Given the description of an element on the screen output the (x, y) to click on. 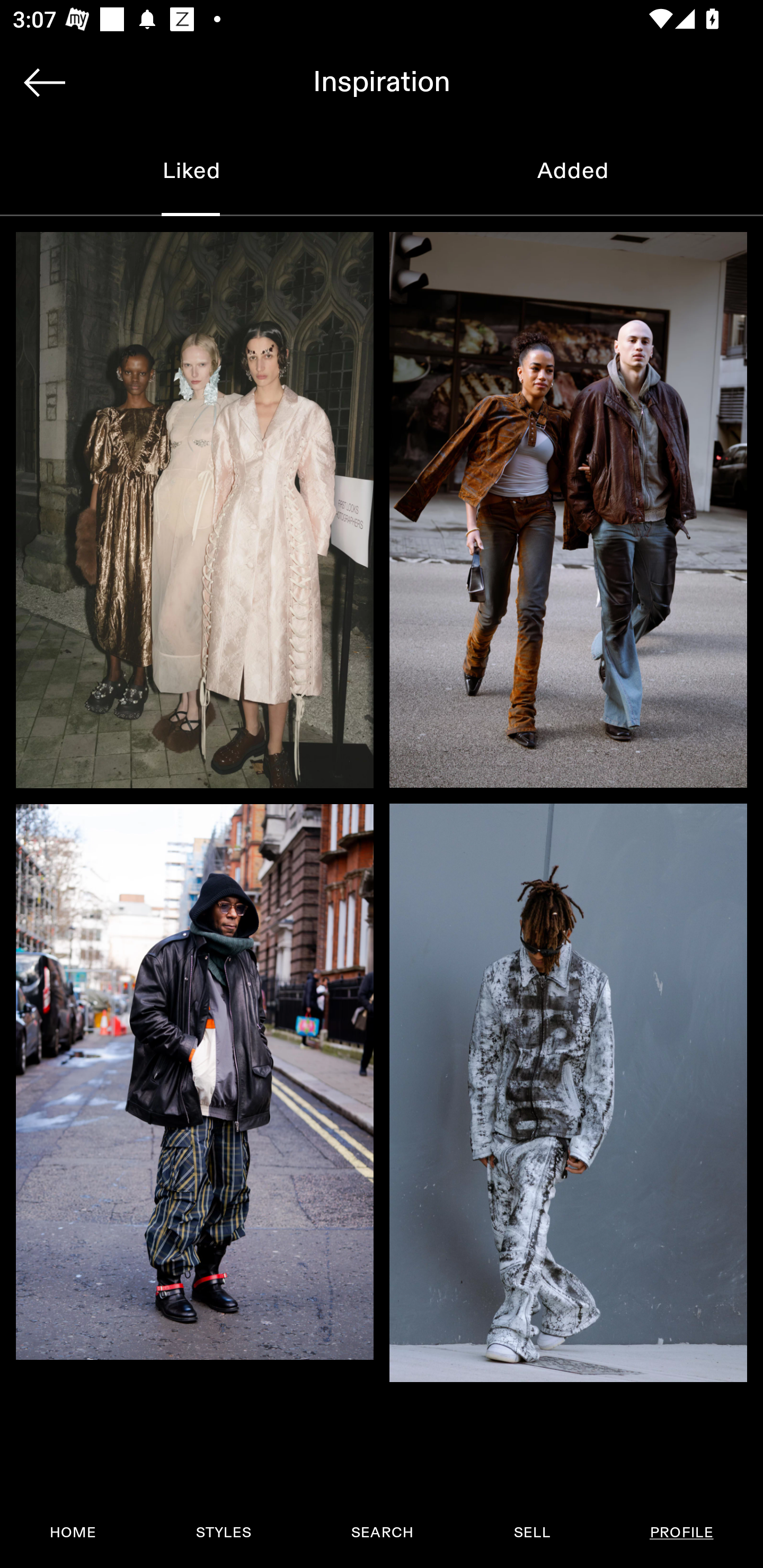
Added (572, 171)
HOME (72, 1532)
STYLES (222, 1532)
SEARCH (381, 1532)
SELL (531, 1532)
PROFILE (681, 1532)
